Given the description of an element on the screen output the (x, y) to click on. 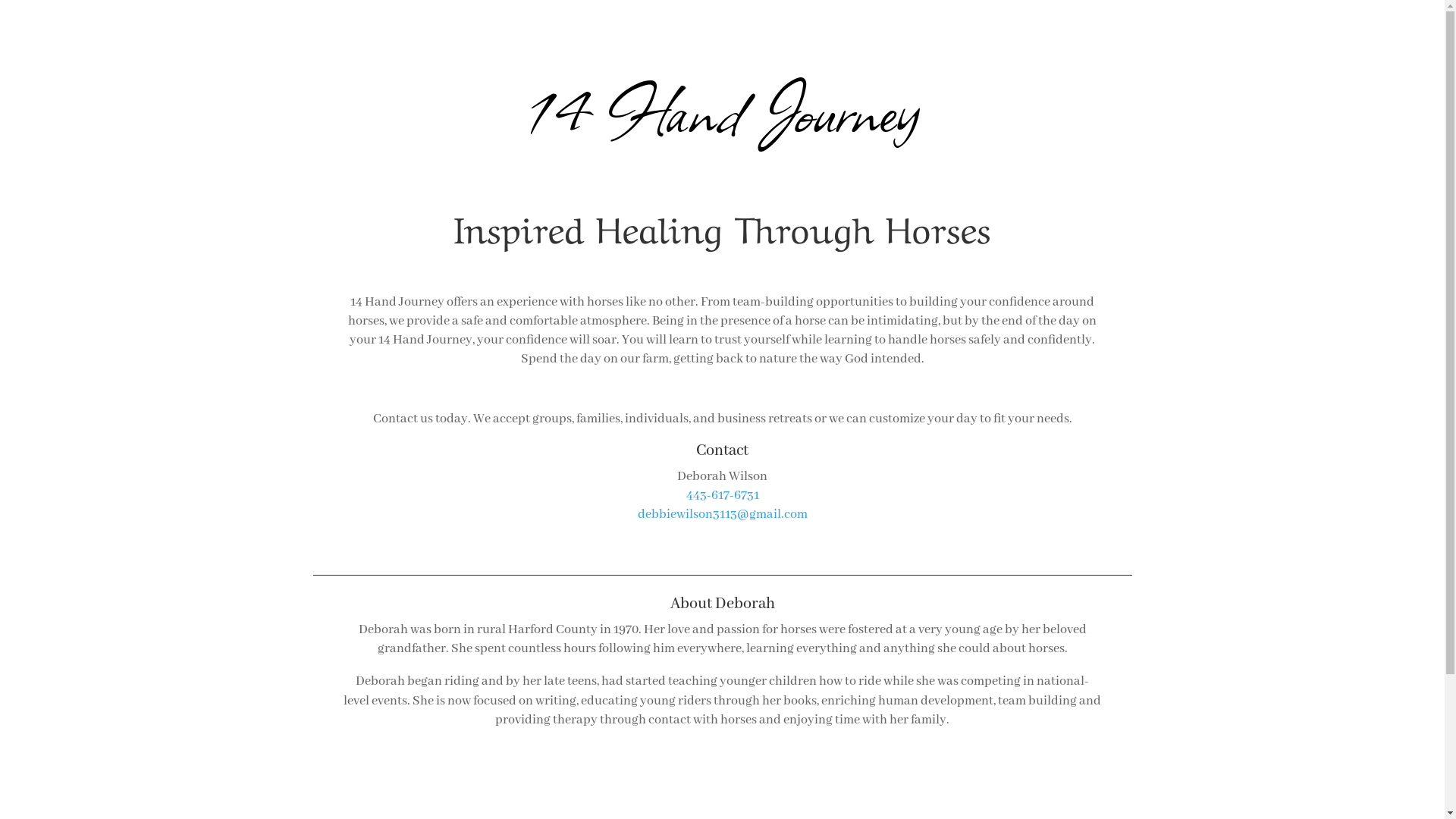
debbiewilson3113@gmail.com Element type: text (721, 514)
443-617-6731 Element type: text (721, 495)
